Given the description of an element on the screen output the (x, y) to click on. 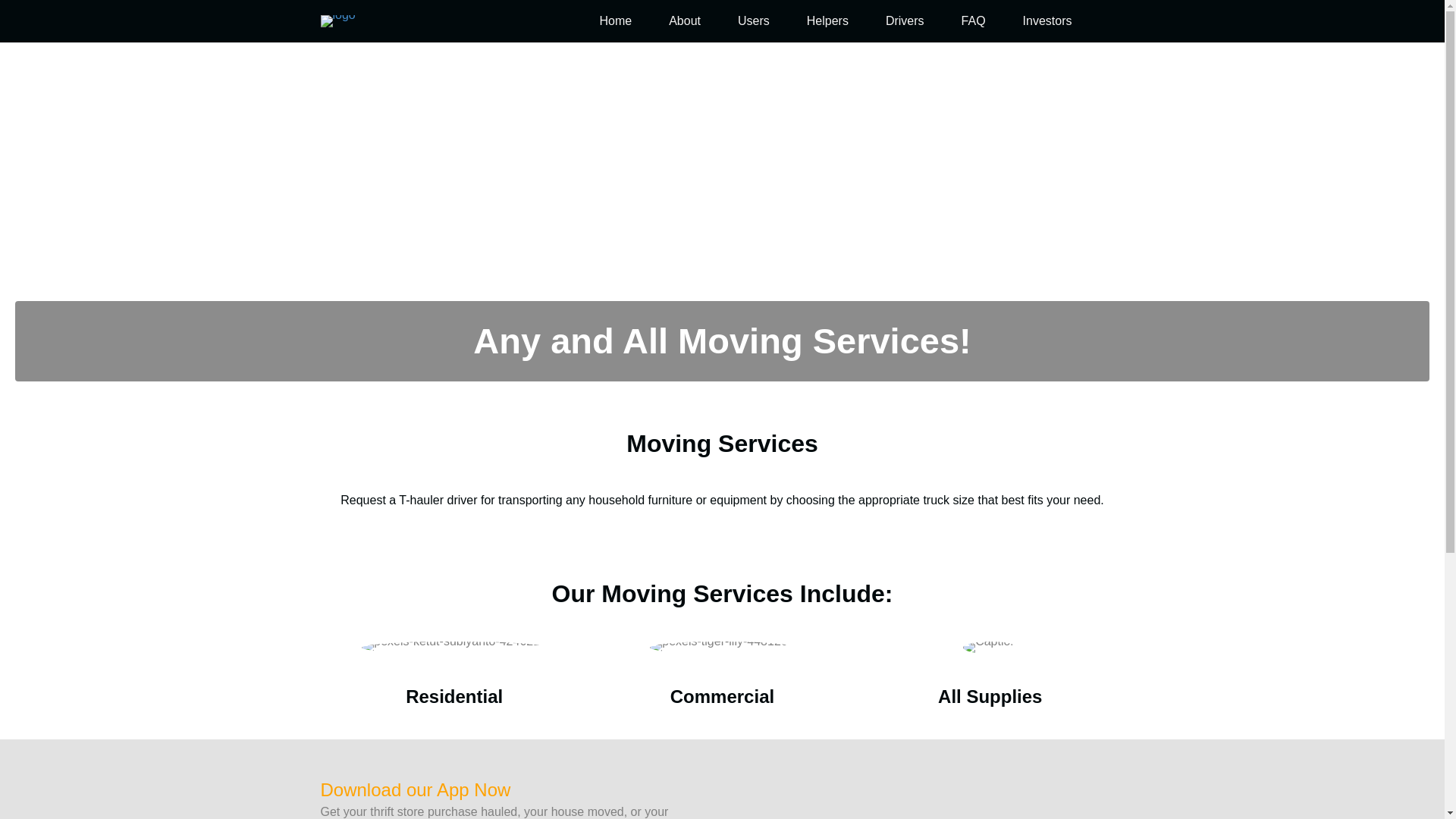
Users (753, 20)
logo (337, 21)
pexels-tiger-lily-4481260 (721, 647)
Drivers (904, 20)
About (684, 20)
pexels-elevate-1267338 (989, 647)
Home (614, 20)
Investors (1047, 20)
FAQ (973, 20)
pexels-ketut-subiyanto-4246218 (454, 647)
